Given the description of an element on the screen output the (x, y) to click on. 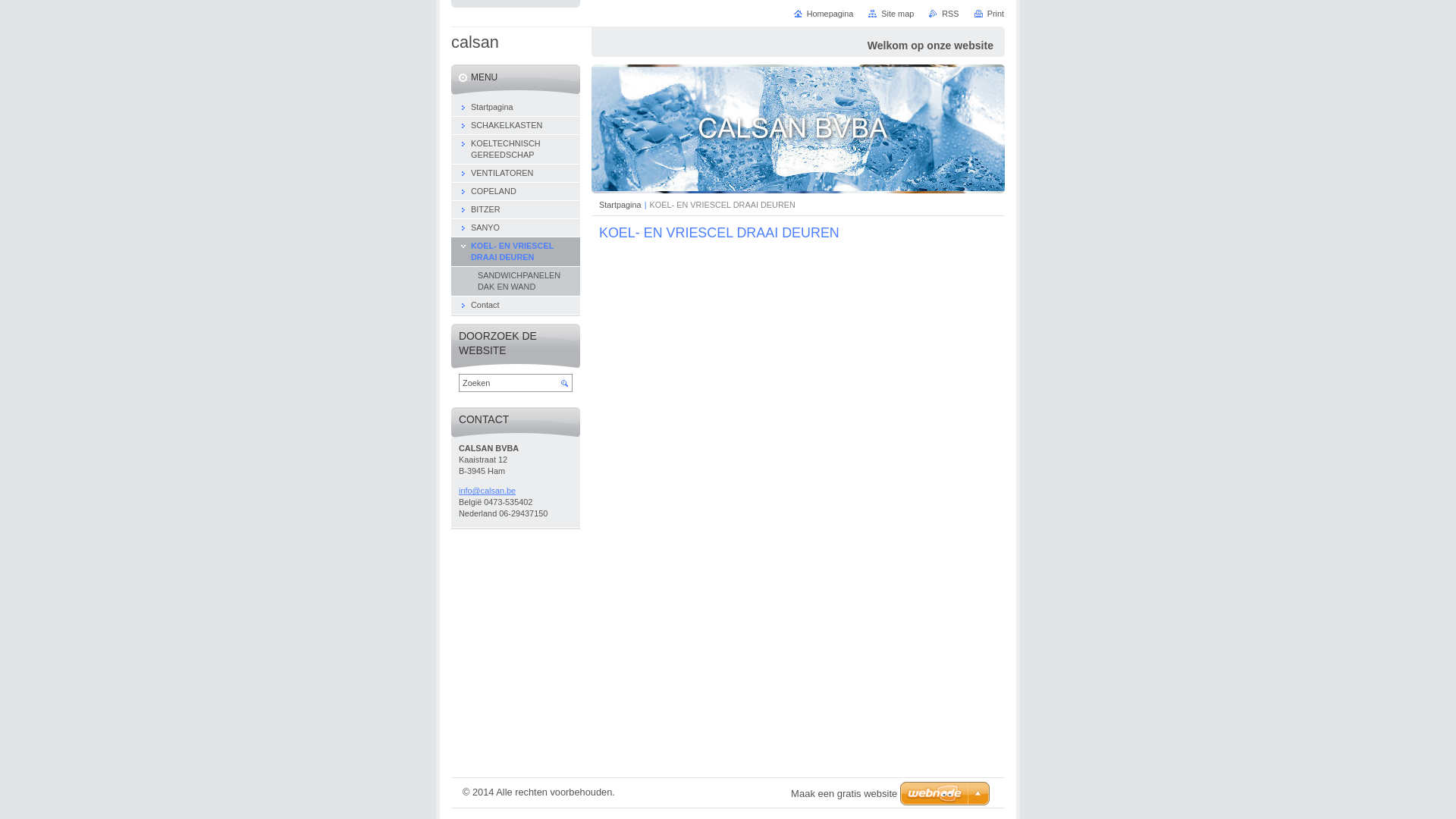
info@calsan.be Element type: text (515, 490)
SANYO Element type: text (515, 228)
SCHAKELKASTEN Element type: text (515, 125)
VENTILATOREN Element type: text (515, 173)
Contact Element type: text (515, 305)
calsan Element type: text (474, 42)
Startpagina Element type: text (620, 204)
BITZER Element type: text (515, 209)
Startpagina Element type: text (515, 107)
RSS Element type: text (943, 13)
Print Element type: text (989, 13)
KOELTECHNISCH GEREEDSCHAP Element type: text (515, 149)
Homepagina Element type: text (823, 13)
COPELAND Element type: text (515, 191)
KOEL- EN VRIESCEL DRAAI DEUREN Element type: text (515, 251)
Maak een gratis website Element type: text (843, 793)
Site map Element type: text (890, 13)
SANDWICHPANELEN DAK EN WAND Element type: text (515, 281)
